Given the description of an element on the screen output the (x, y) to click on. 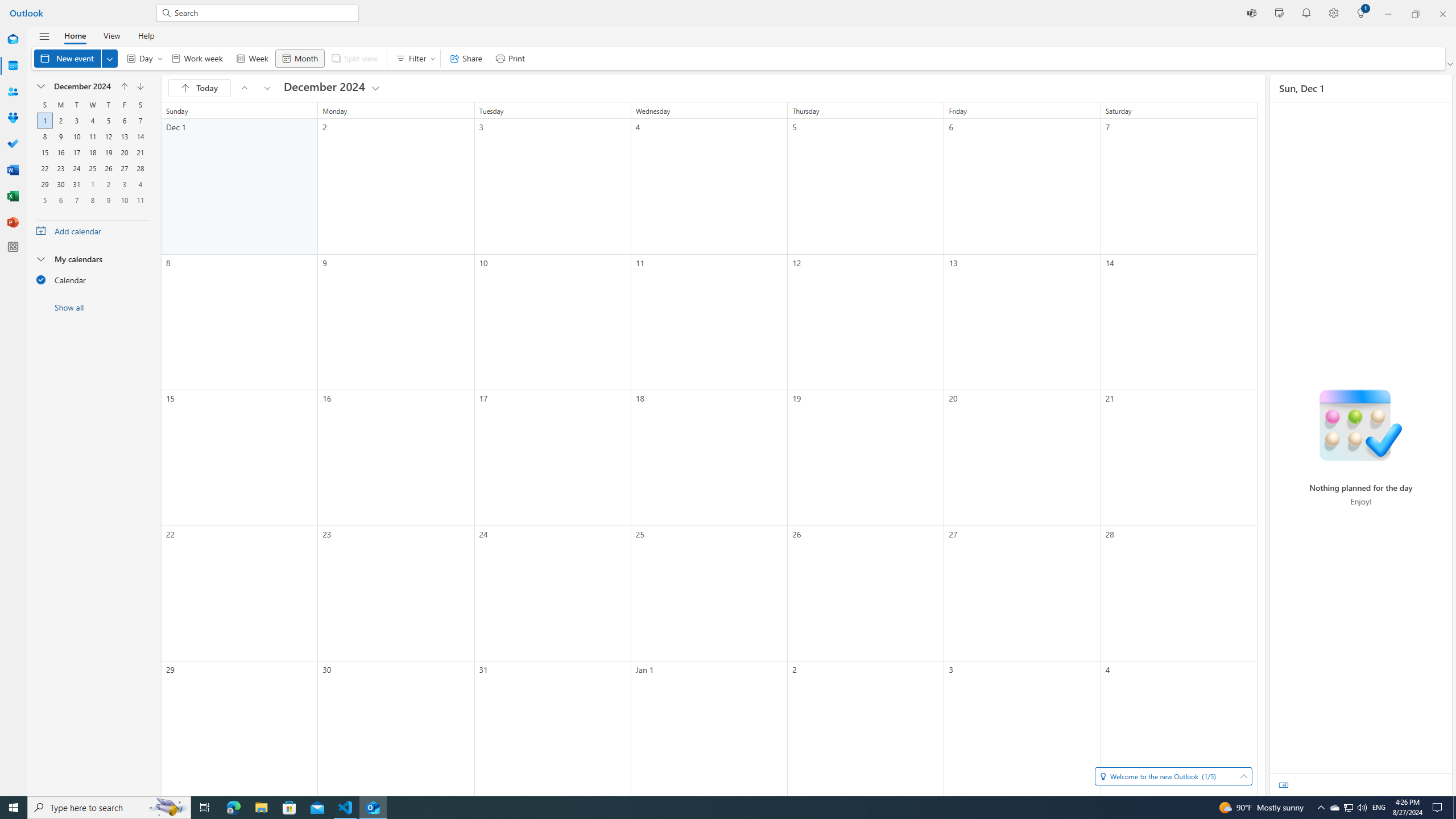
5, December, 2024 (108, 120)
File Explorer (261, 807)
20, December, 2024 (124, 152)
2, January, 2025 (108, 184)
Calendar (92, 279)
Task View (204, 807)
Month (299, 58)
Help (146, 35)
28, December, 2024 (140, 168)
8, December, 2024 (44, 136)
3, December, 2024 (75, 120)
6, December, 2024 (124, 120)
Go to previous month November (124, 86)
Search (262, 12)
December 2024 (332, 88)
